Given the description of an element on the screen output the (x, y) to click on. 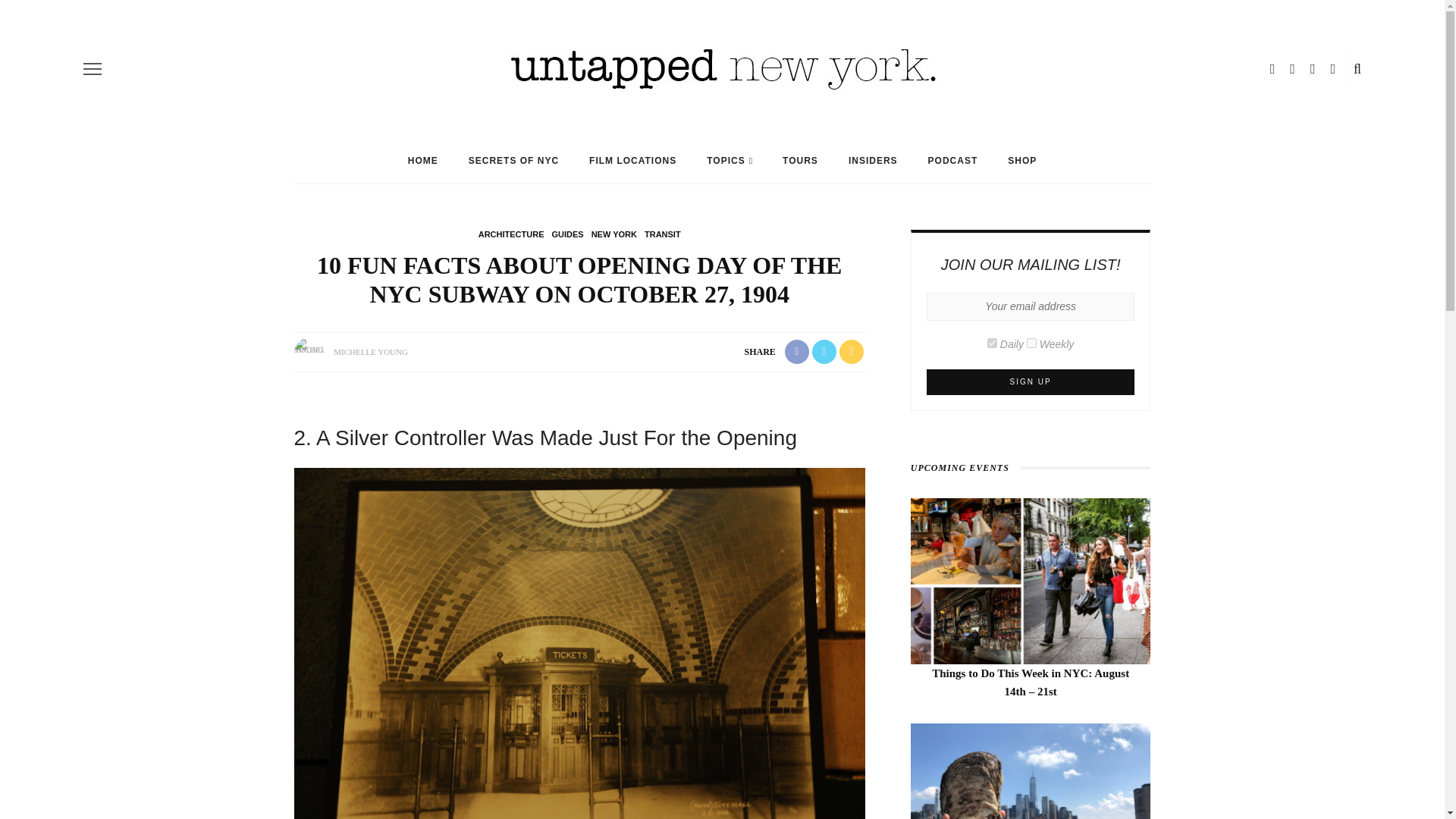
Sign up (1030, 381)
7cff6a70fd (1031, 343)
e99a09560c (992, 343)
off canvas button (91, 68)
Post by Michelle Young (370, 351)
